Given the description of an element on the screen output the (x, y) to click on. 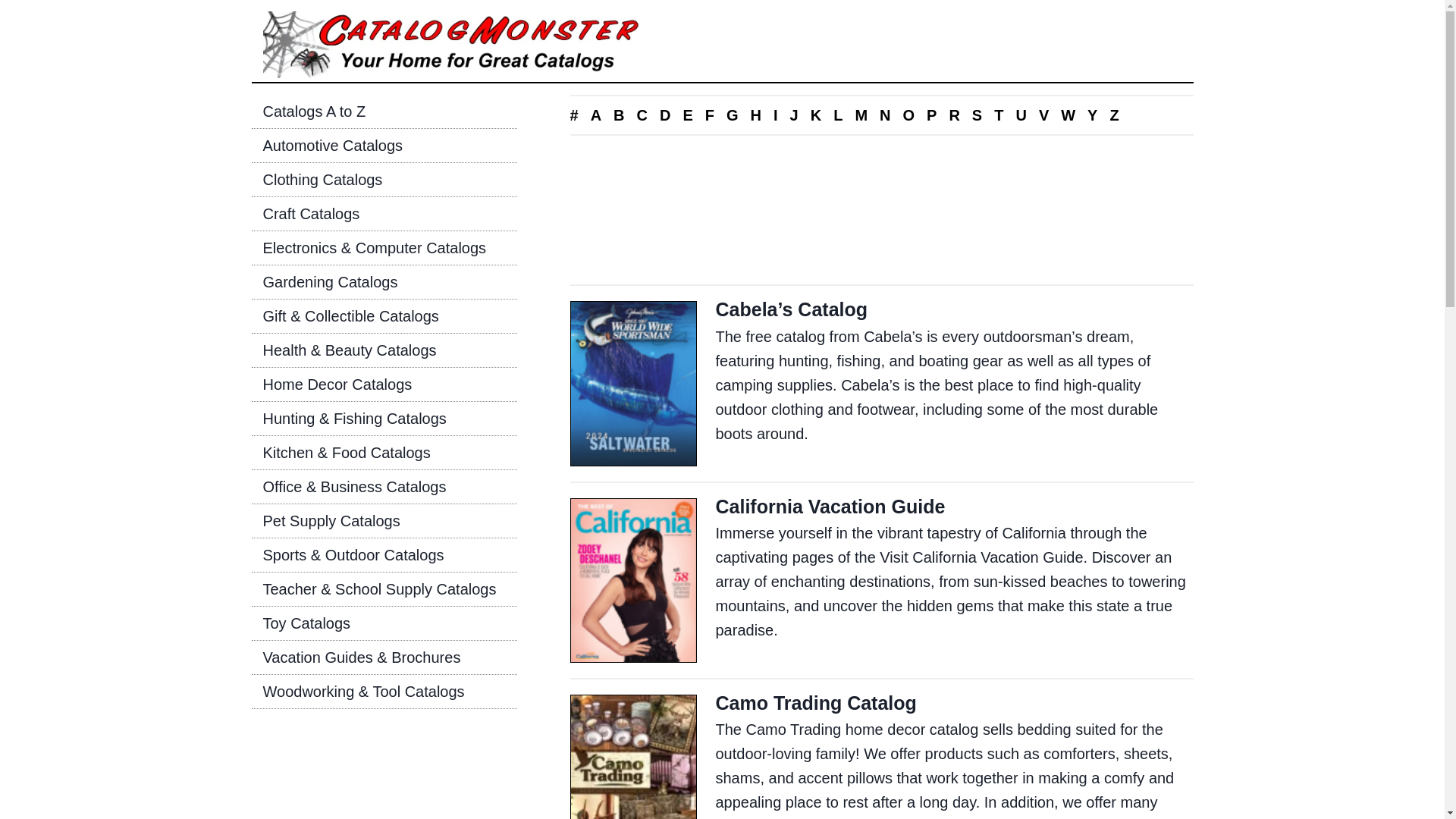
California Vacation Guide (830, 506)
Camo Trading Catalog (816, 702)
